Given the description of an element on the screen output the (x, y) to click on. 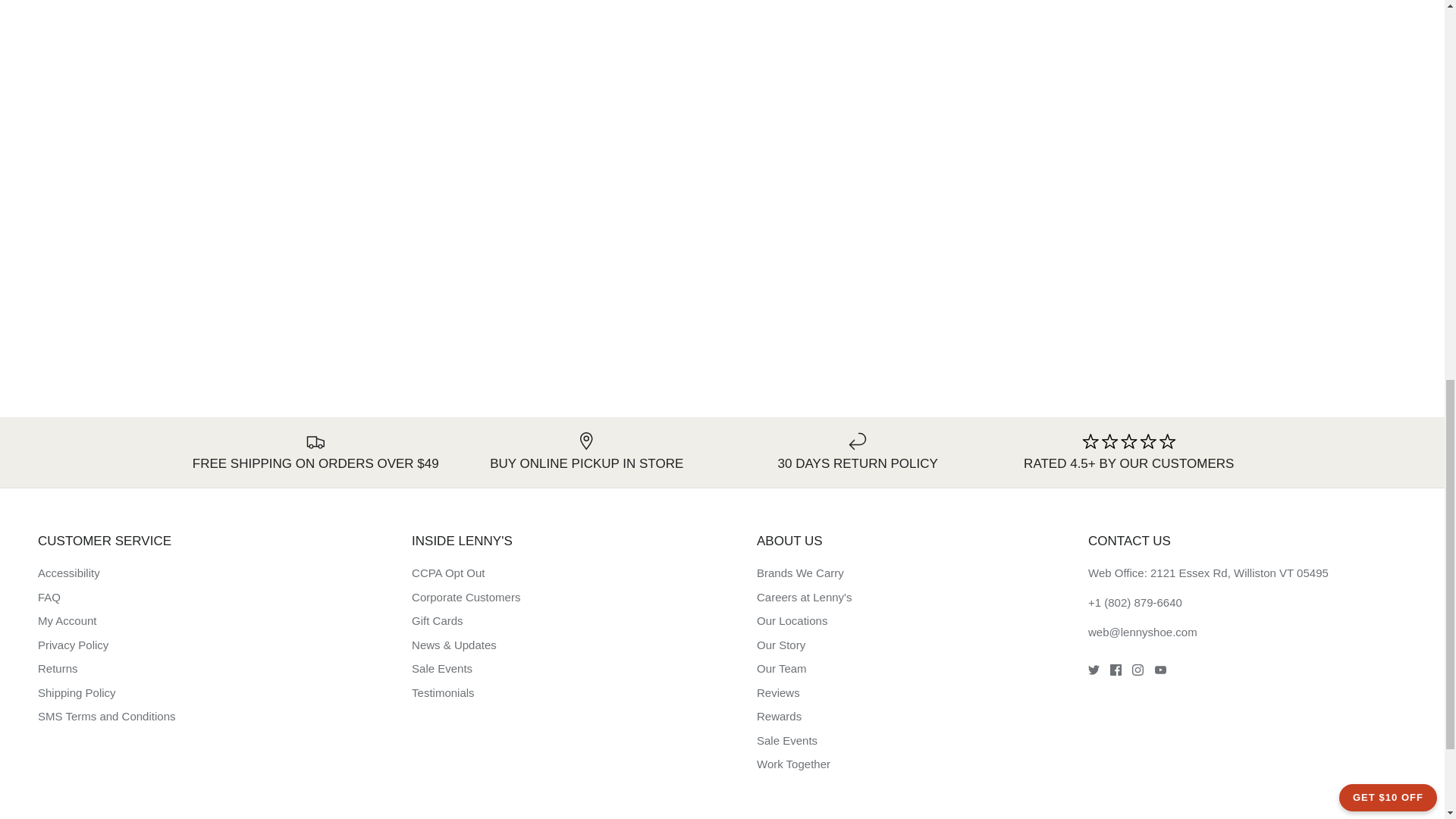
Instagram (1137, 669)
Youtube (1160, 669)
Twitter (1093, 669)
Facebook (1115, 669)
